Given the description of an element on the screen output the (x, y) to click on. 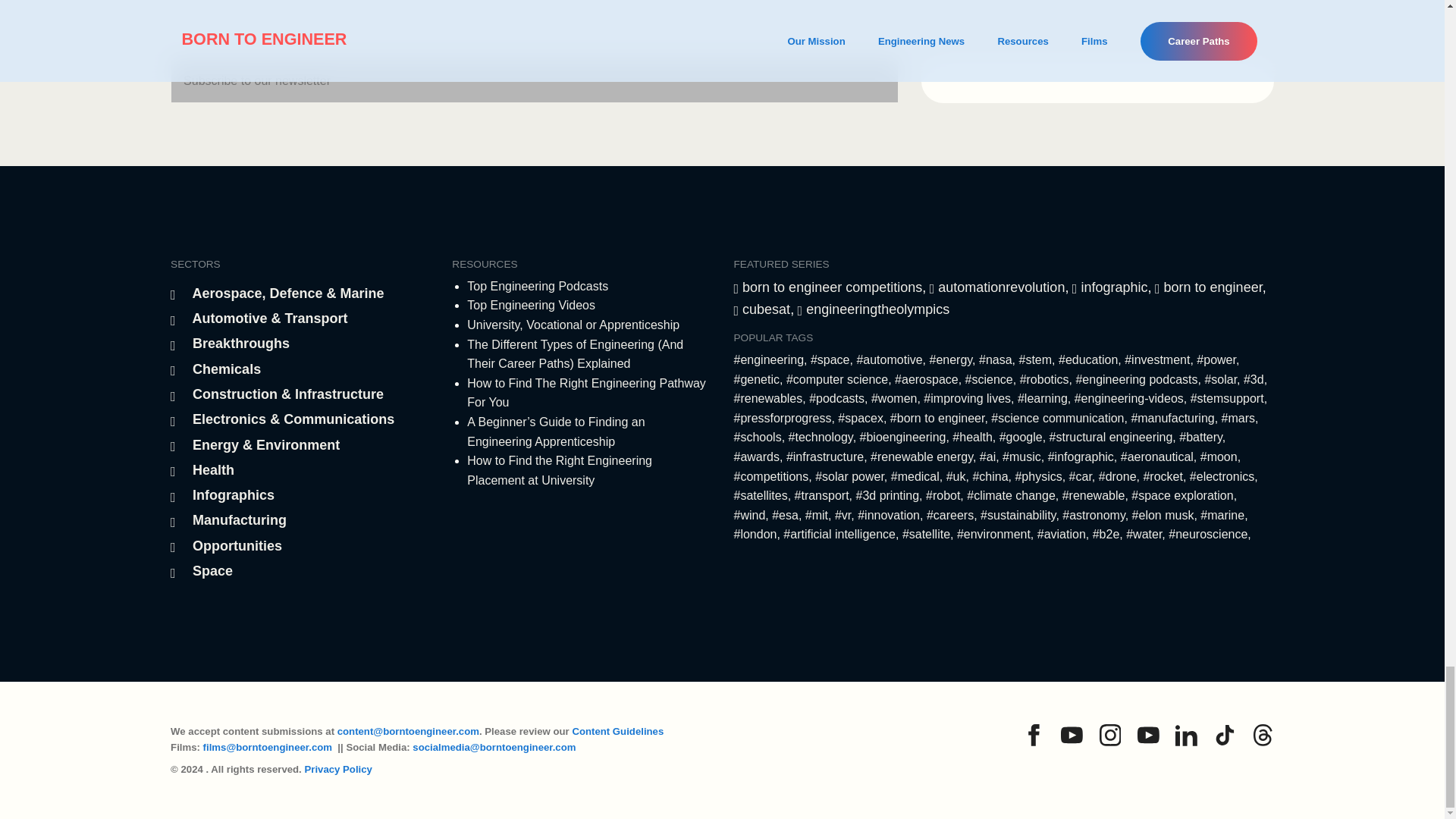
Subscribe (1097, 80)
